Given the description of an element on the screen output the (x, y) to click on. 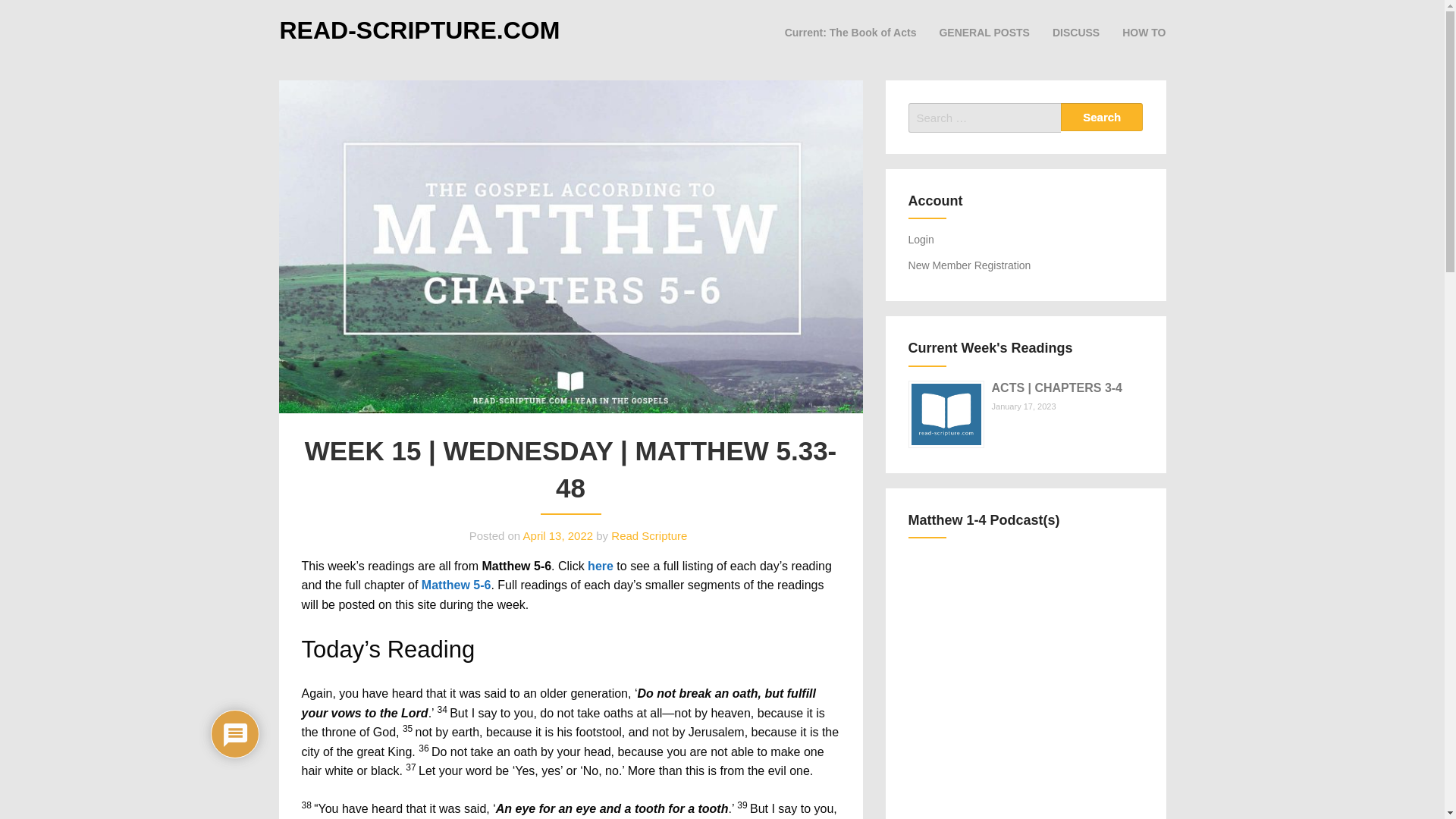
HOW TO (1143, 32)
READ-SCRIPTURE.COM (419, 30)
Current: The Book of Acts (850, 32)
New Member Registration (969, 265)
Login (921, 239)
DISCUSS (1075, 32)
here (600, 565)
GENERAL POSTS (984, 32)
Search (1101, 117)
Search (1101, 117)
